Given the description of an element on the screen output the (x, y) to click on. 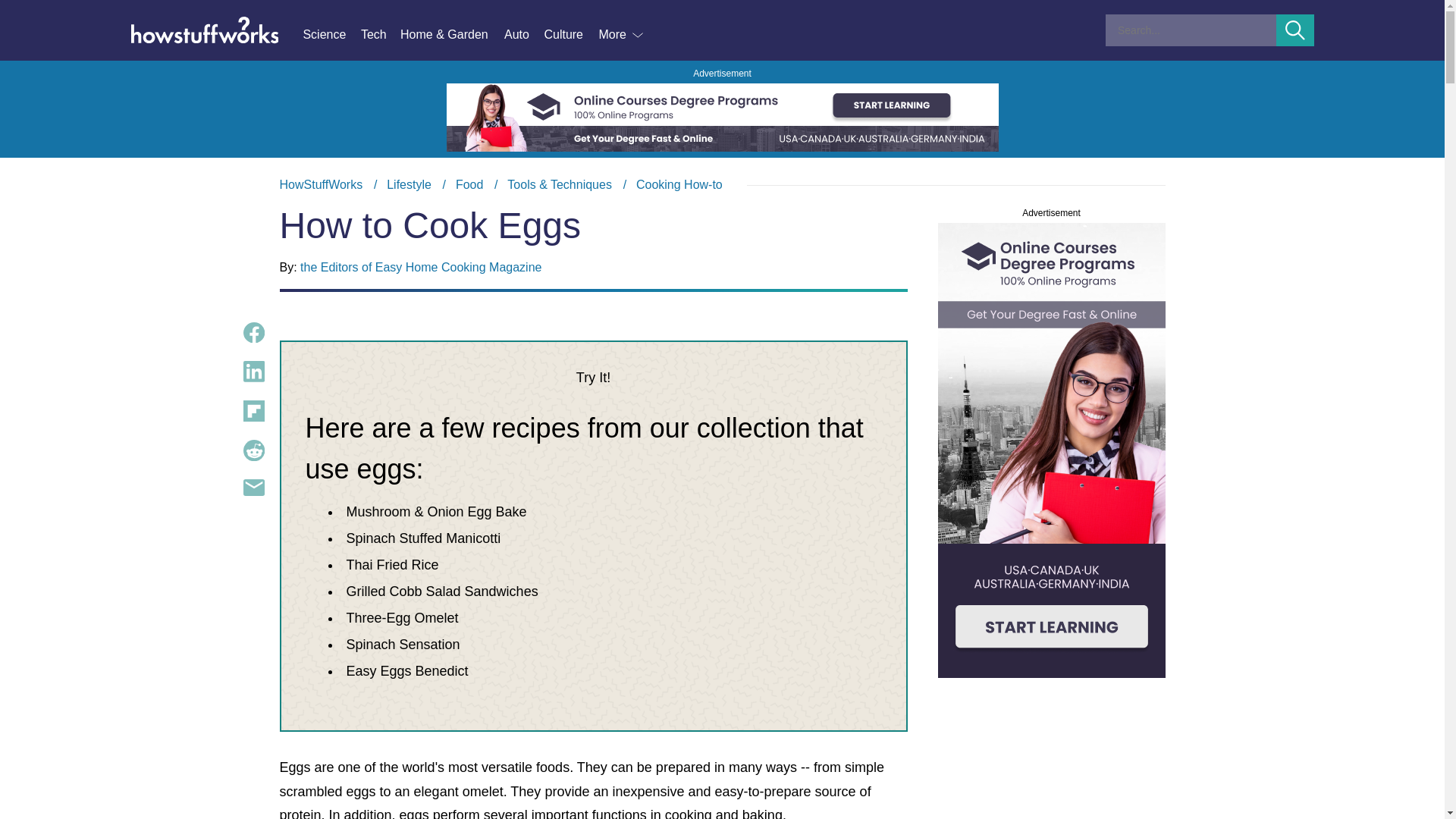
Auto (523, 34)
Share Content via Email (253, 487)
Science (330, 34)
HowStuffWorks (320, 184)
Share Content on LinkedIn (253, 371)
Share Content on Facebook (253, 332)
Culture (570, 34)
Submit Search (1295, 29)
Share Content on Reddit (253, 450)
Share Content on Flipboard (253, 410)
